Given the description of an element on the screen output the (x, y) to click on. 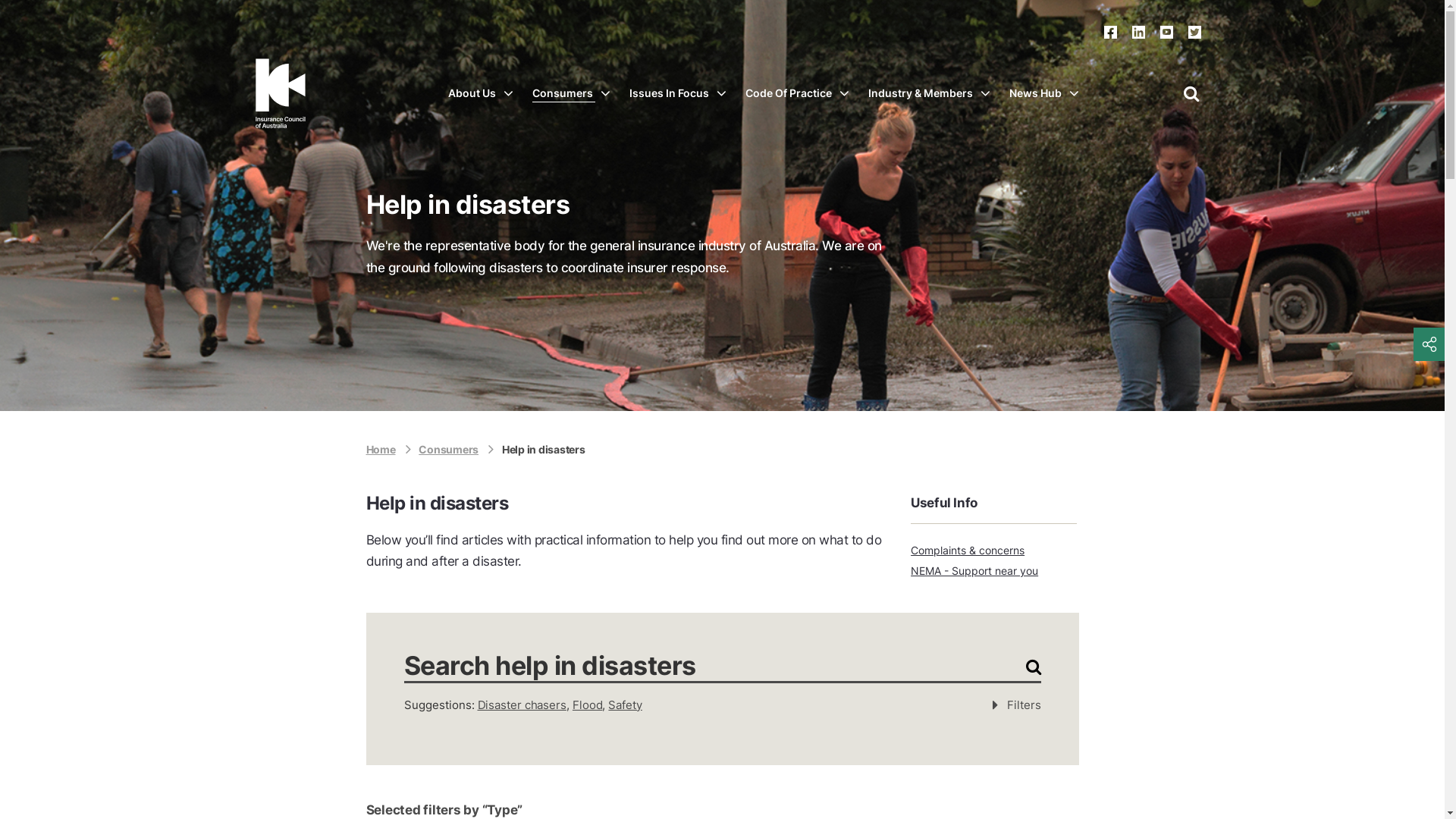
Issues In Focus Element type: text (677, 92)
Industry & Members Element type: text (928, 92)
Code Of Practice Element type: text (796, 92)
About Us Element type: text (479, 92)
Complaints & concerns Element type: text (993, 550)
Home Element type: text (387, 448)
News Hub Element type: text (1043, 92)
Consumers Element type: text (455, 448)
NEMA - Support near you Element type: text (993, 570)
Consumers Element type: text (571, 92)
